Given the description of an element on the screen output the (x, y) to click on. 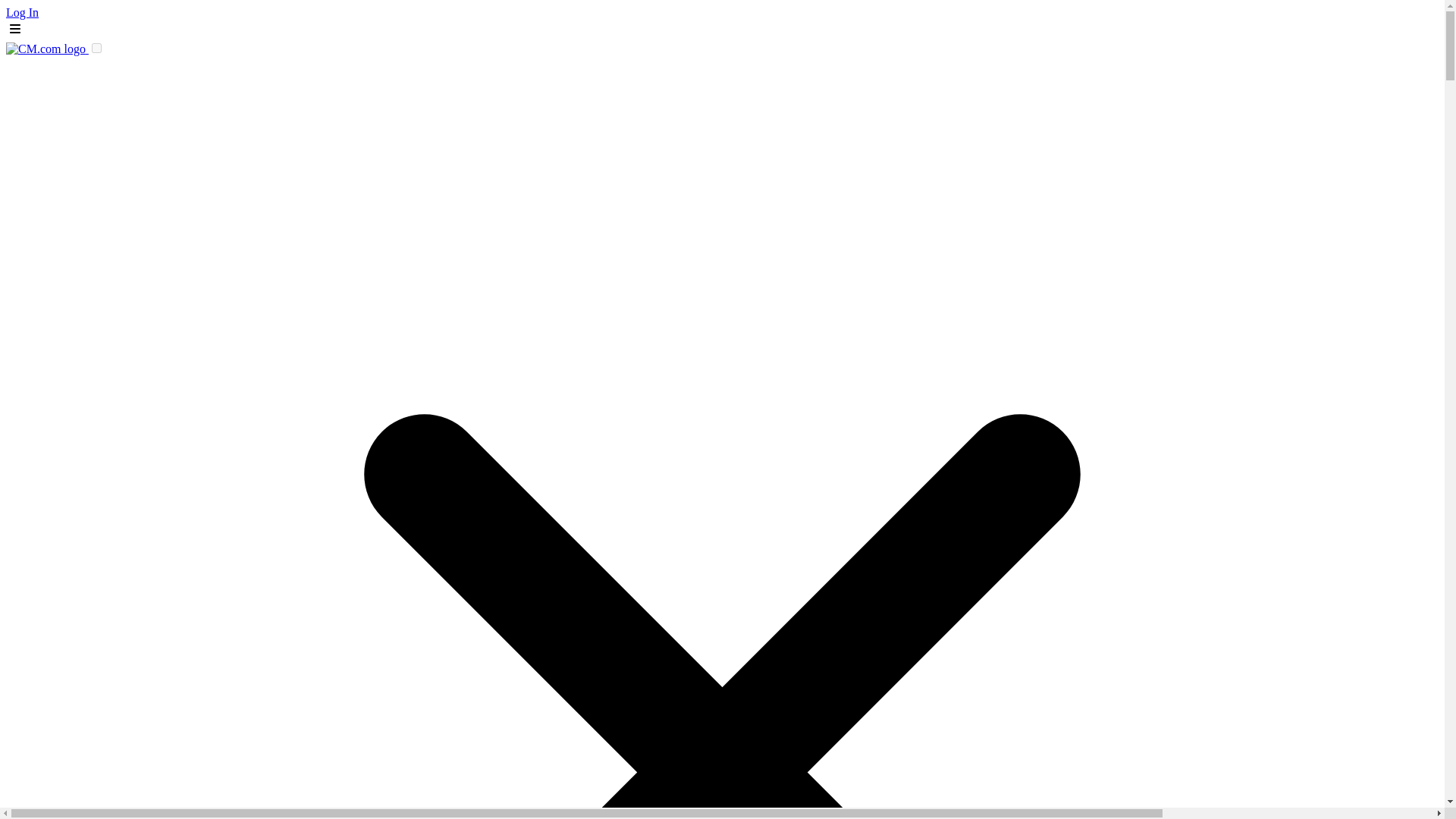
CM.com (46, 48)
Log In (22, 11)
menu (14, 28)
on (96, 48)
